Given the description of an element on the screen output the (x, y) to click on. 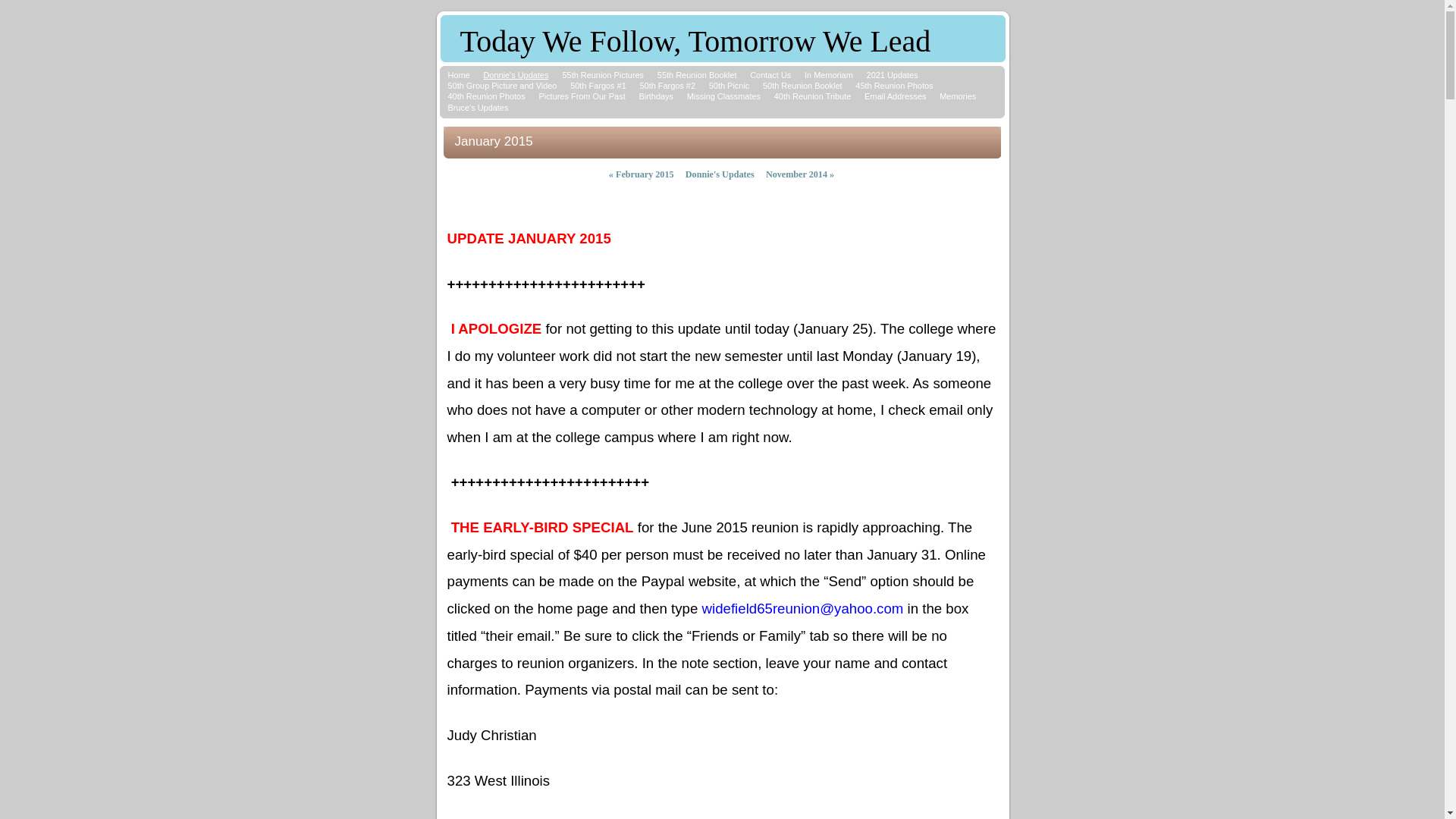
40th Reunion Photos Element type: text (485, 95)
2021 Updates Element type: text (892, 74)
45th Reunion Photos Element type: text (893, 85)
Bruce's Updates Element type: text (477, 107)
50th Reunion Booklet Element type: text (802, 85)
Donnie's Updates Element type: text (719, 174)
Contact Us Element type: text (769, 74)
50th Picnic Element type: text (729, 85)
Memories Element type: text (957, 95)
55th Reunion Booklet Element type: text (697, 74)
widefield65reunion@yahoo.com Element type: text (802, 608)
Today We Follow, Tomorrow We Lead Element type: text (694, 44)
40th Reunion Tribute Element type: text (812, 95)
55th Reunion Pictures Element type: text (602, 74)
50th Fargos #1 Element type: text (598, 85)
In Memoriam Element type: text (828, 74)
Donnie's Updates Element type: text (515, 74)
Missing Classmates Element type: text (723, 95)
50th Fargos #2 Element type: text (667, 85)
Pictures From Our Past Element type: text (581, 95)
Birthdays Element type: text (655, 95)
Home Element type: text (458, 74)
Email Addresses Element type: text (894, 95)
50th Group Picture and Video Element type: text (501, 85)
